Given the description of an element on the screen output the (x, y) to click on. 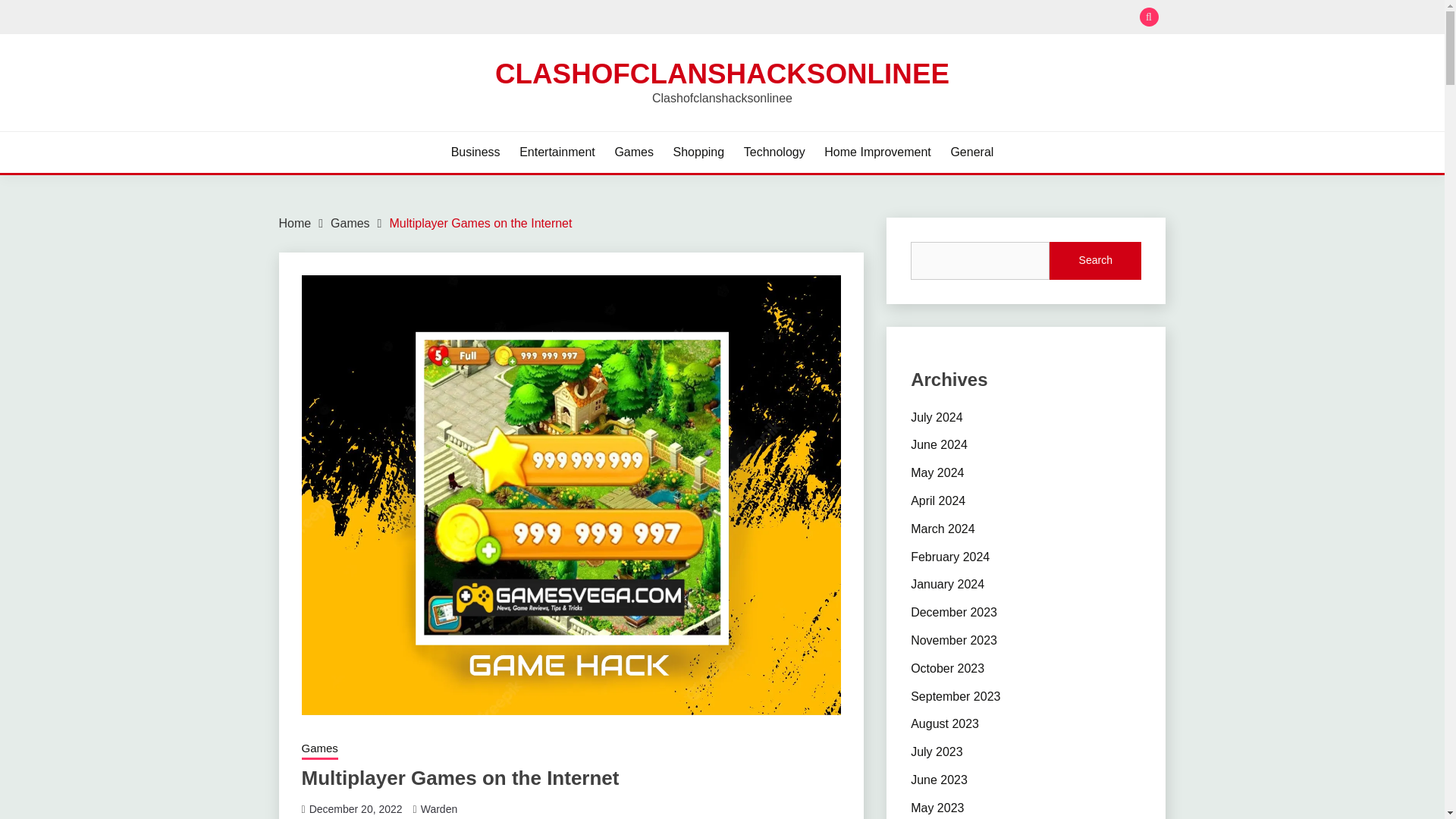
CLASHOFCLANSHACKSONLINEE (722, 73)
General (971, 152)
Games (633, 152)
Games (319, 750)
June 2024 (939, 444)
Entertainment (557, 152)
Warden (439, 808)
Search (832, 18)
Search (1095, 260)
Home Improvement (877, 152)
July 2024 (936, 417)
May 2024 (937, 472)
Multiplayer Games on the Internet (480, 223)
Games (349, 223)
April 2024 (938, 500)
